Given the description of an element on the screen output the (x, y) to click on. 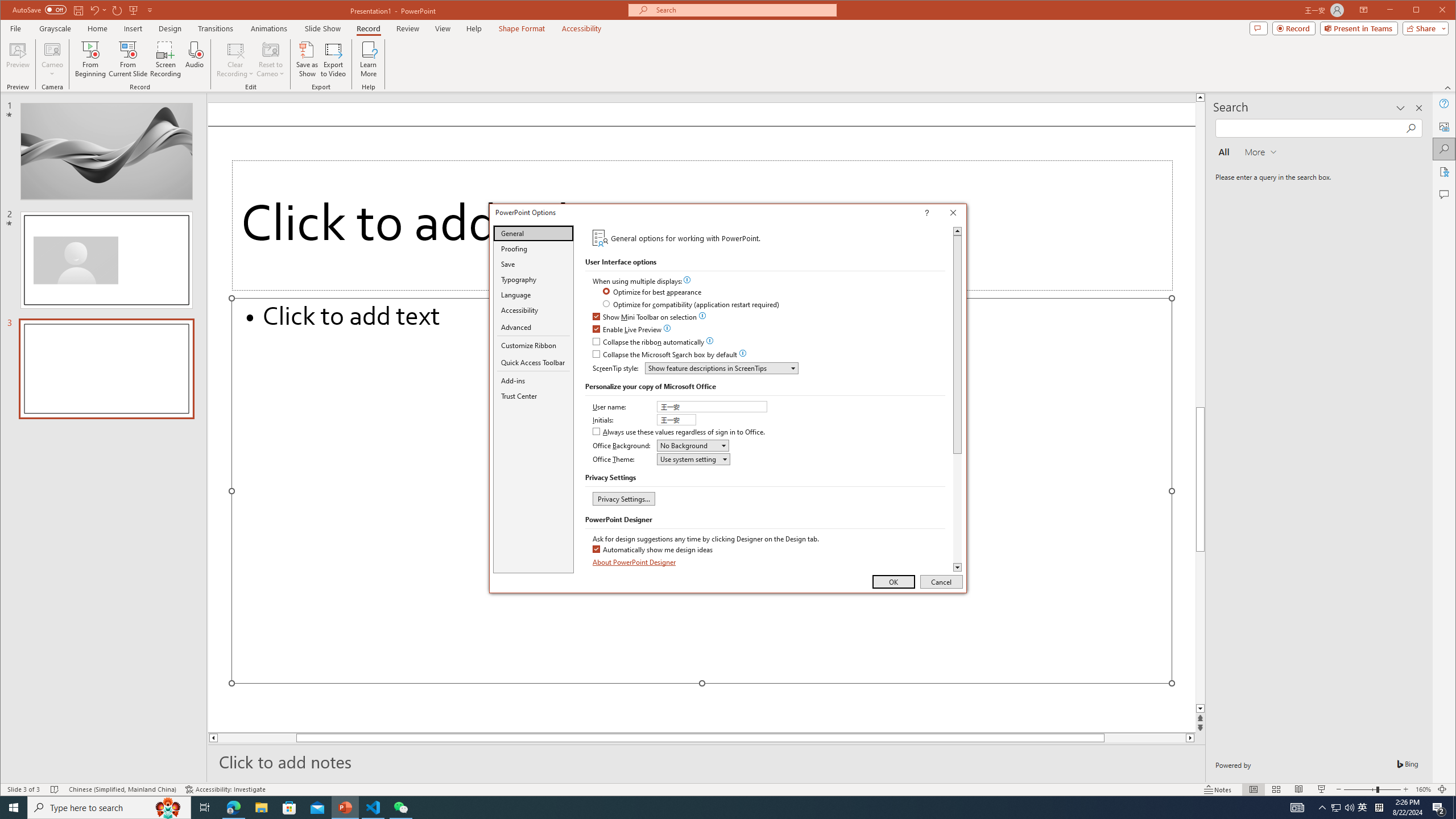
WeChat - 1 running window (400, 807)
Always use these values regardless of sign in to Office. (679, 432)
Context help (943, 214)
Typography (533, 279)
Optimize for best appearance (652, 292)
Collapse the ribbon automatically (649, 342)
Customize Ribbon (533, 344)
Optimize for compatibility (application restart required) (691, 304)
